Given the description of an element on the screen output the (x, y) to click on. 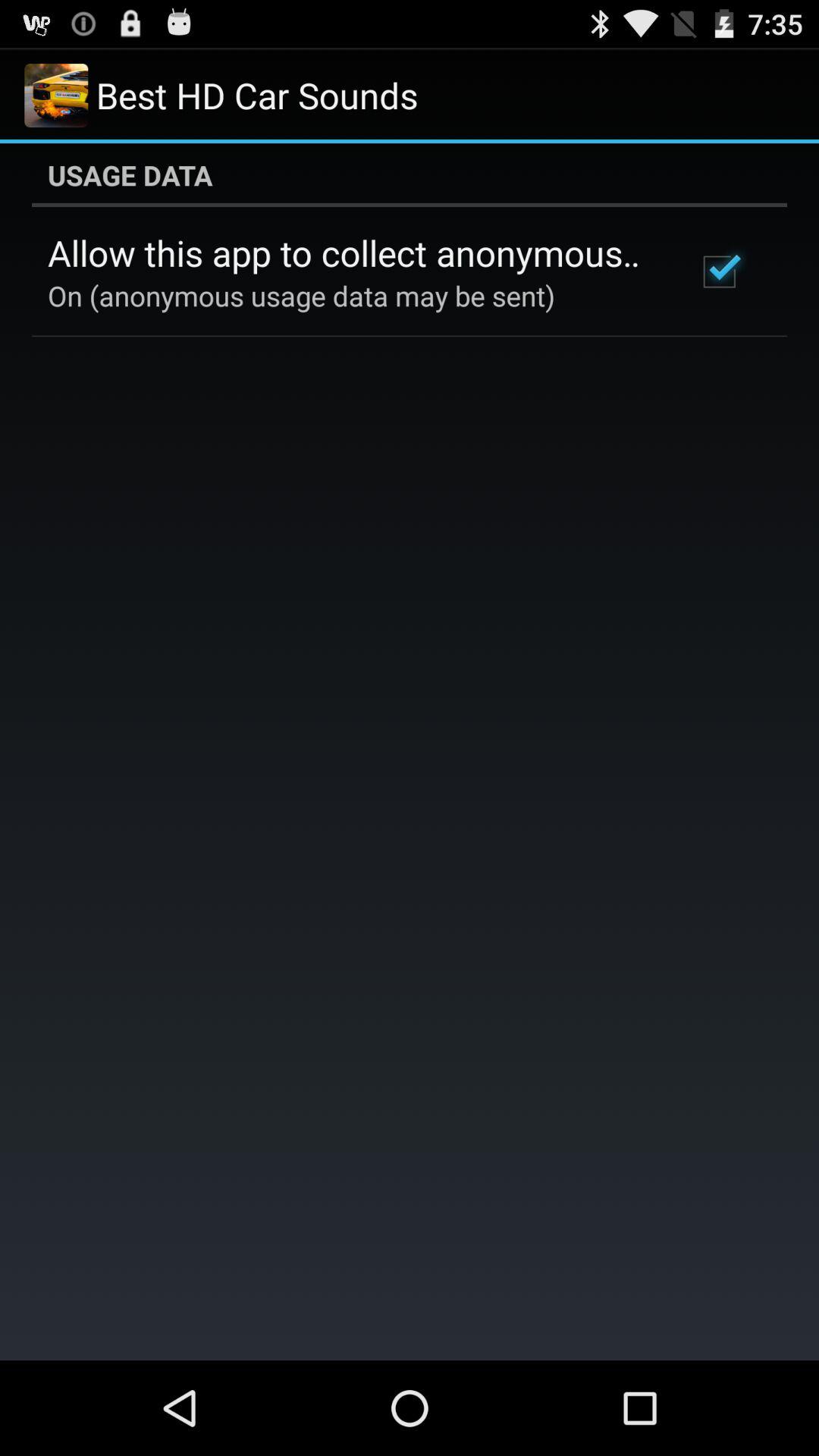
turn on the item to the right of the allow this app icon (719, 271)
